Given the description of an element on the screen output the (x, y) to click on. 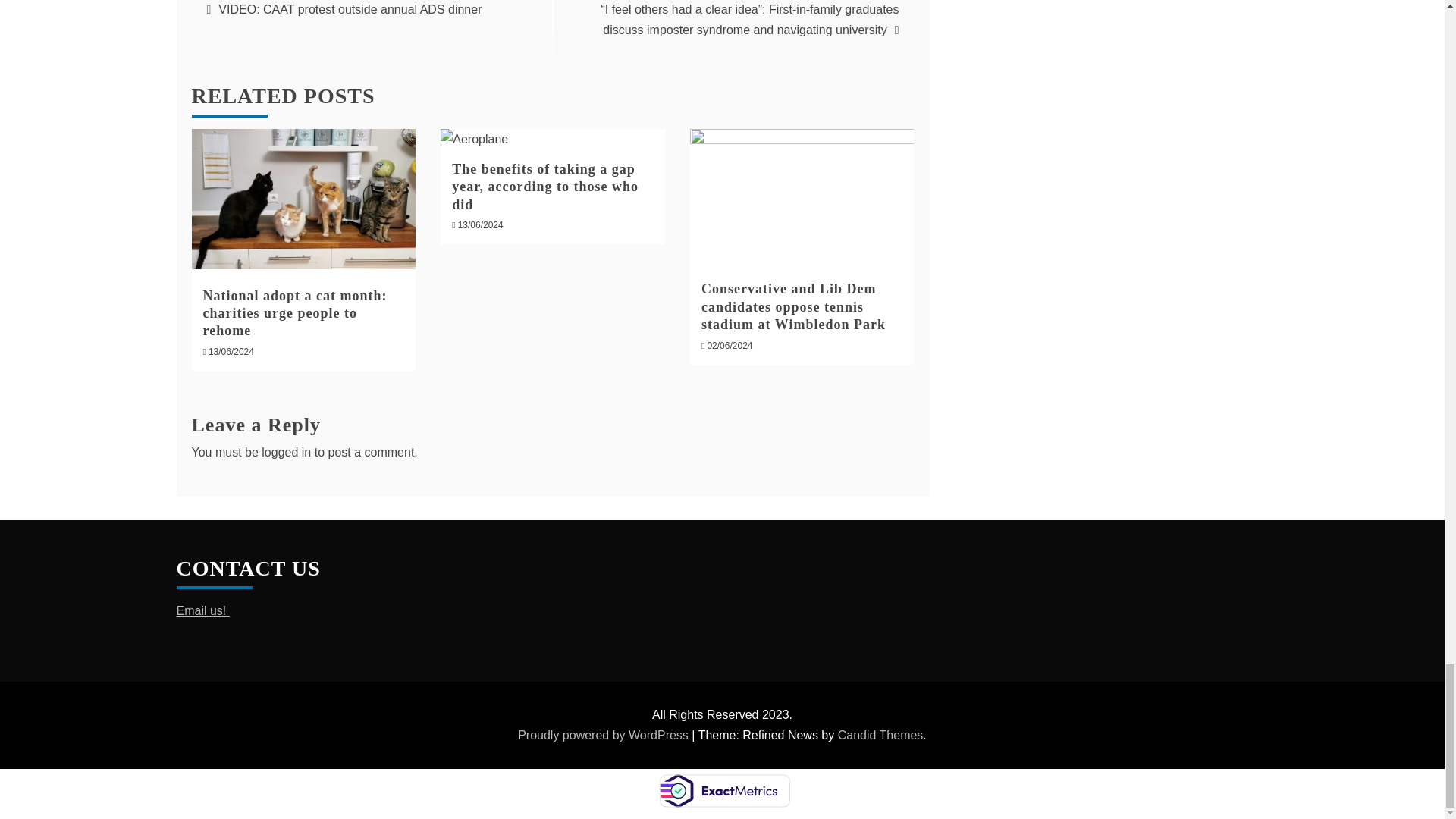
Verified by ExactMetrics (722, 791)
